Given the description of an element on the screen output the (x, y) to click on. 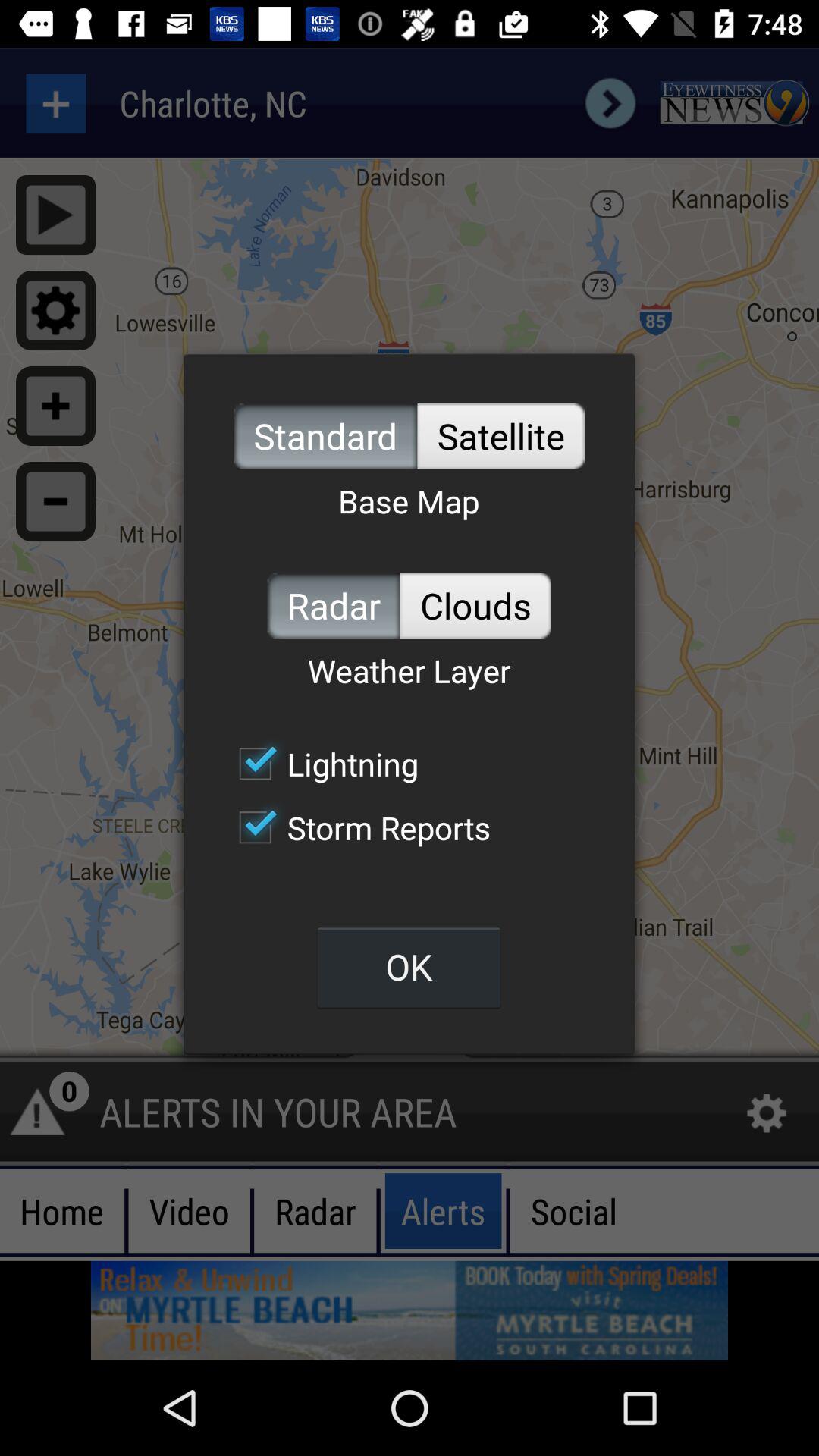
choose the icon above the ok icon (356, 827)
